Given the description of an element on the screen output the (x, y) to click on. 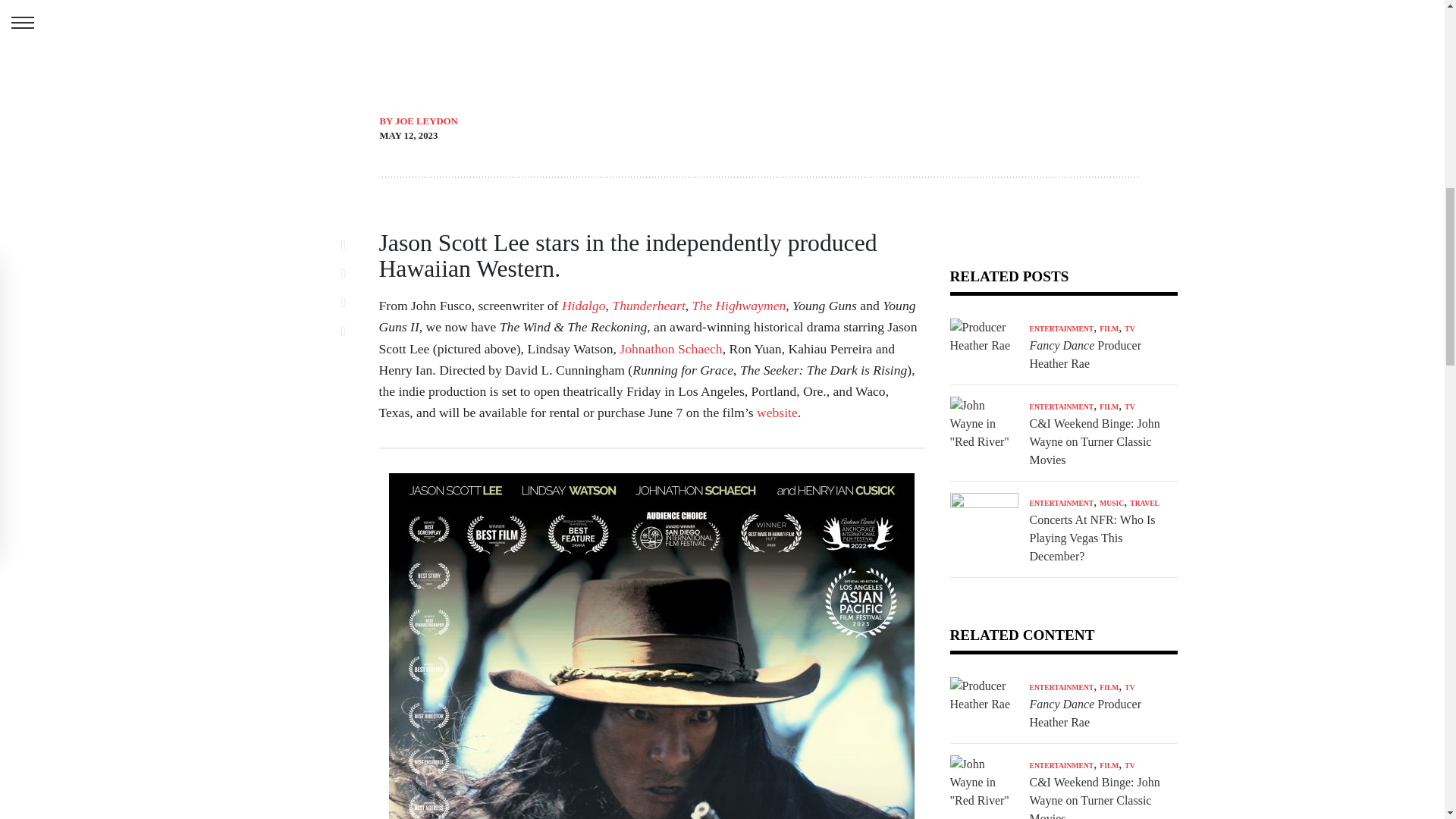
Share on Facebook (352, 244)
Tweet This Post (352, 273)
Share by Email (352, 331)
